Given the description of an element on the screen output the (x, y) to click on. 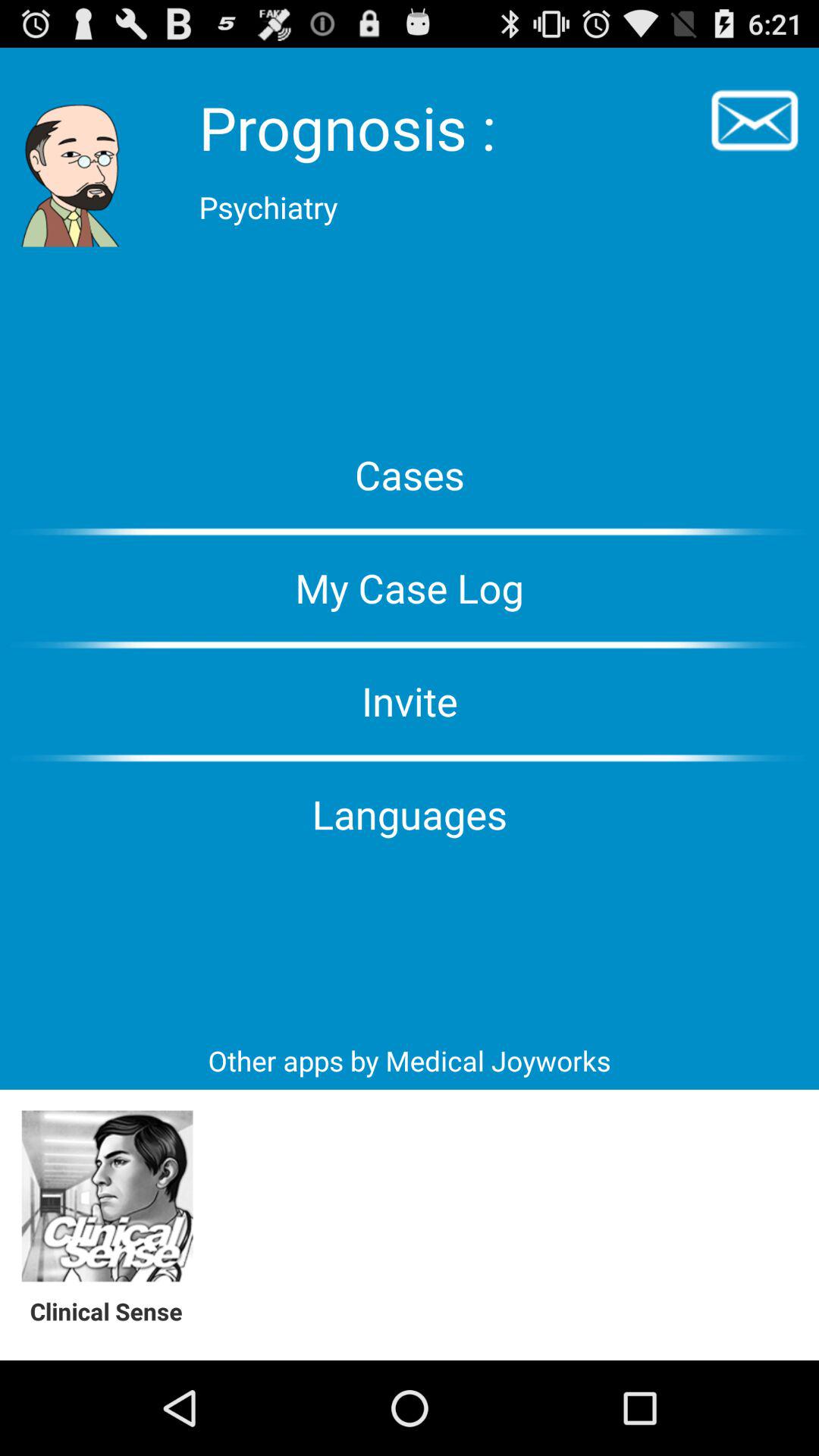
select the invite (409, 700)
